Given the description of an element on the screen output the (x, y) to click on. 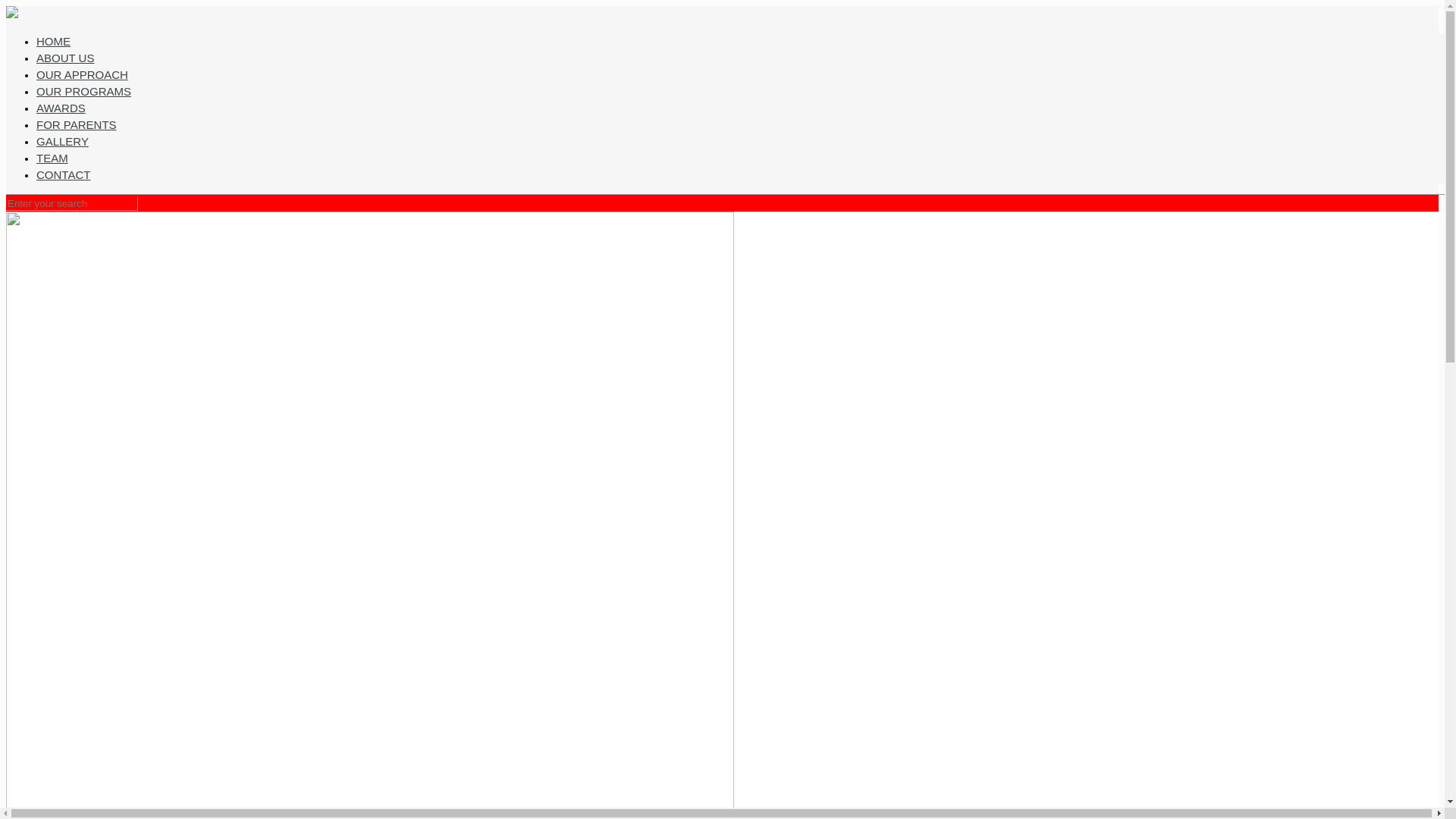
Atelier International Preschool (11, 14)
GALLERY (62, 141)
ABOUT US (65, 57)
AWARDS (60, 107)
TEAM (52, 157)
OUR PROGRAMS (83, 91)
CONTACT (63, 174)
OUR APPROACH (82, 74)
FOR PARENTS (76, 124)
HOME (52, 41)
